Given the description of an element on the screen output the (x, y) to click on. 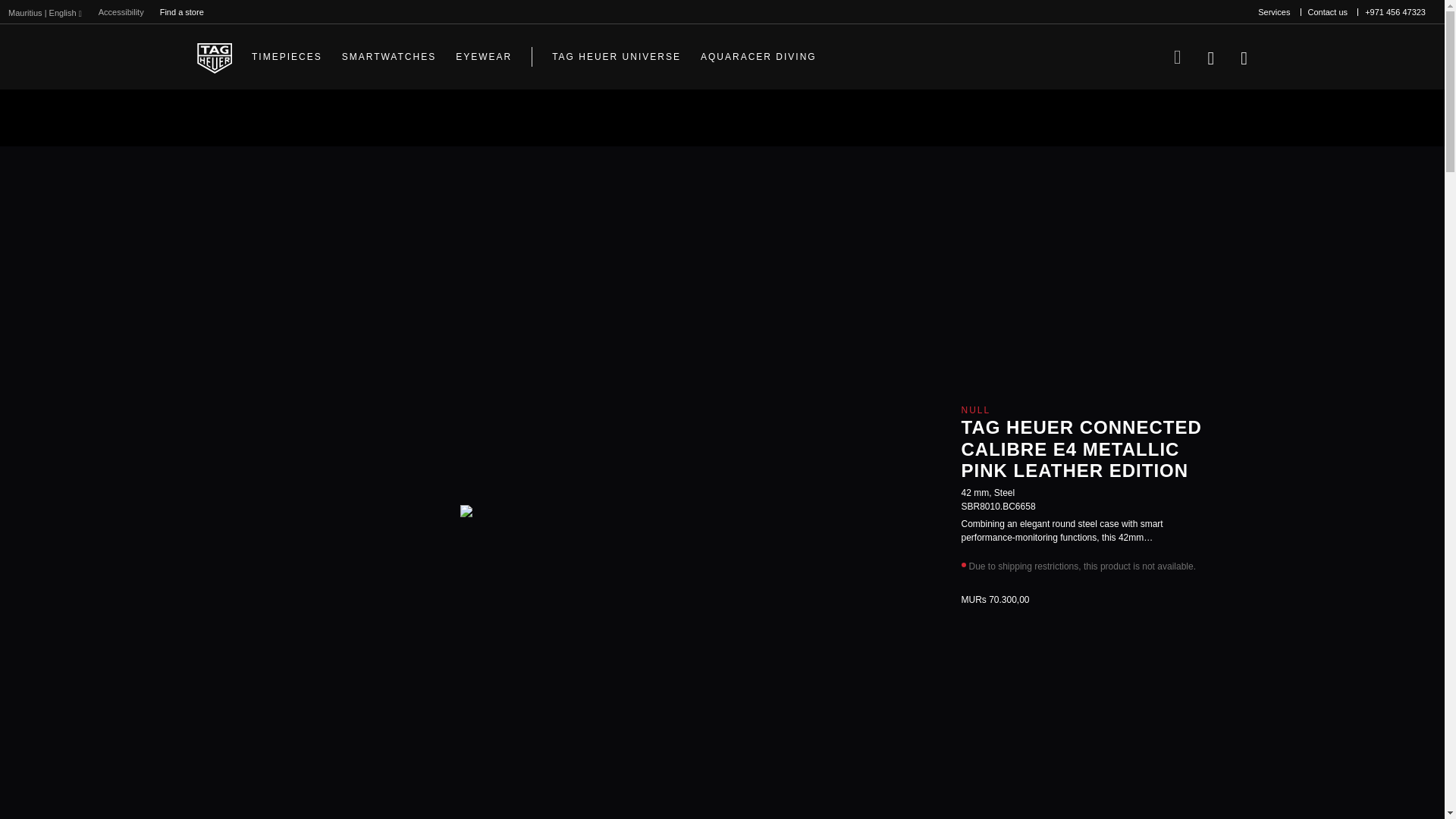
Accessibility (121, 12)
Contact us (1327, 12)
Find a store (181, 11)
My TAG Heuer account (1210, 56)
Your cart contains 0 products (1243, 56)
Services (1273, 12)
Homepage (213, 56)
TAG Heuer logo" (213, 56)
TIMEPIECES (286, 56)
